Given the description of an element on the screen output the (x, y) to click on. 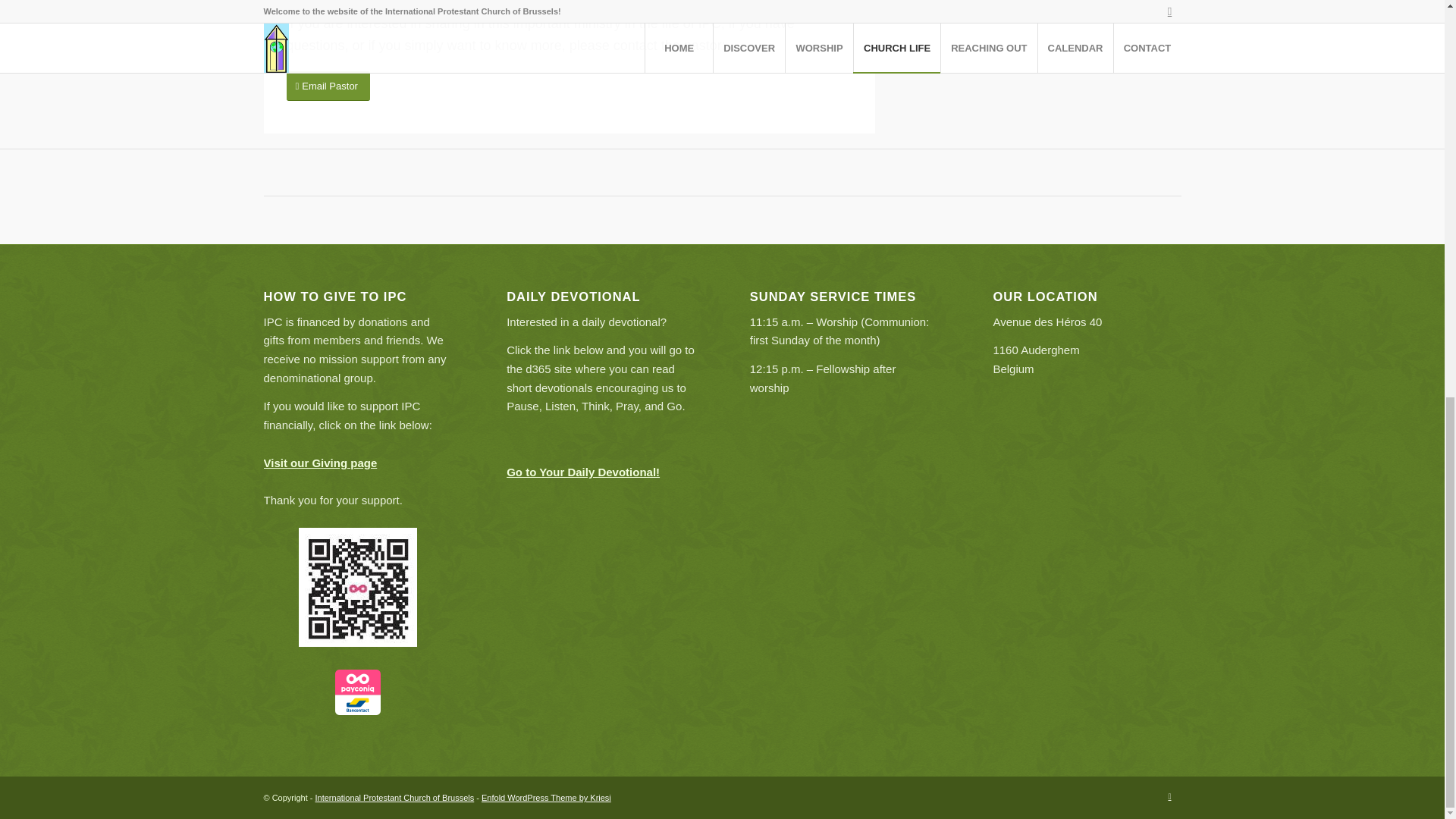
Facebook (1169, 795)
Visit our Giving page (320, 462)
Email Pastor (327, 85)
Go to Your Daily Devotional! (582, 472)
Enfold WordPress Theme by Kriesi (546, 797)
International Protestant Church of Brussels (394, 797)
